Given the description of an element on the screen output the (x, y) to click on. 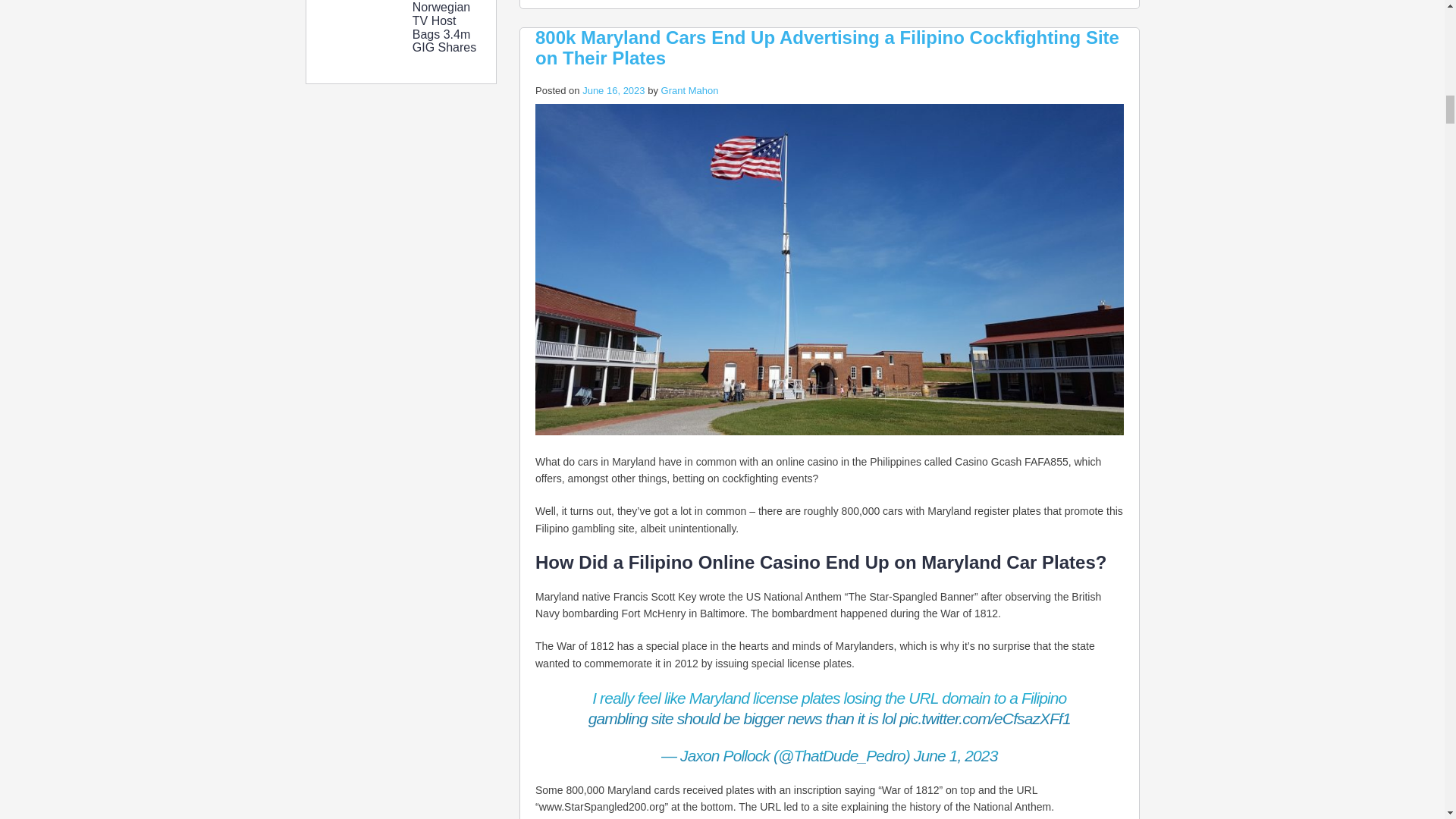
June 16, 2023 (613, 90)
Grant Mahon (690, 90)
June 1, 2023 (955, 755)
